Given the description of an element on the screen output the (x, y) to click on. 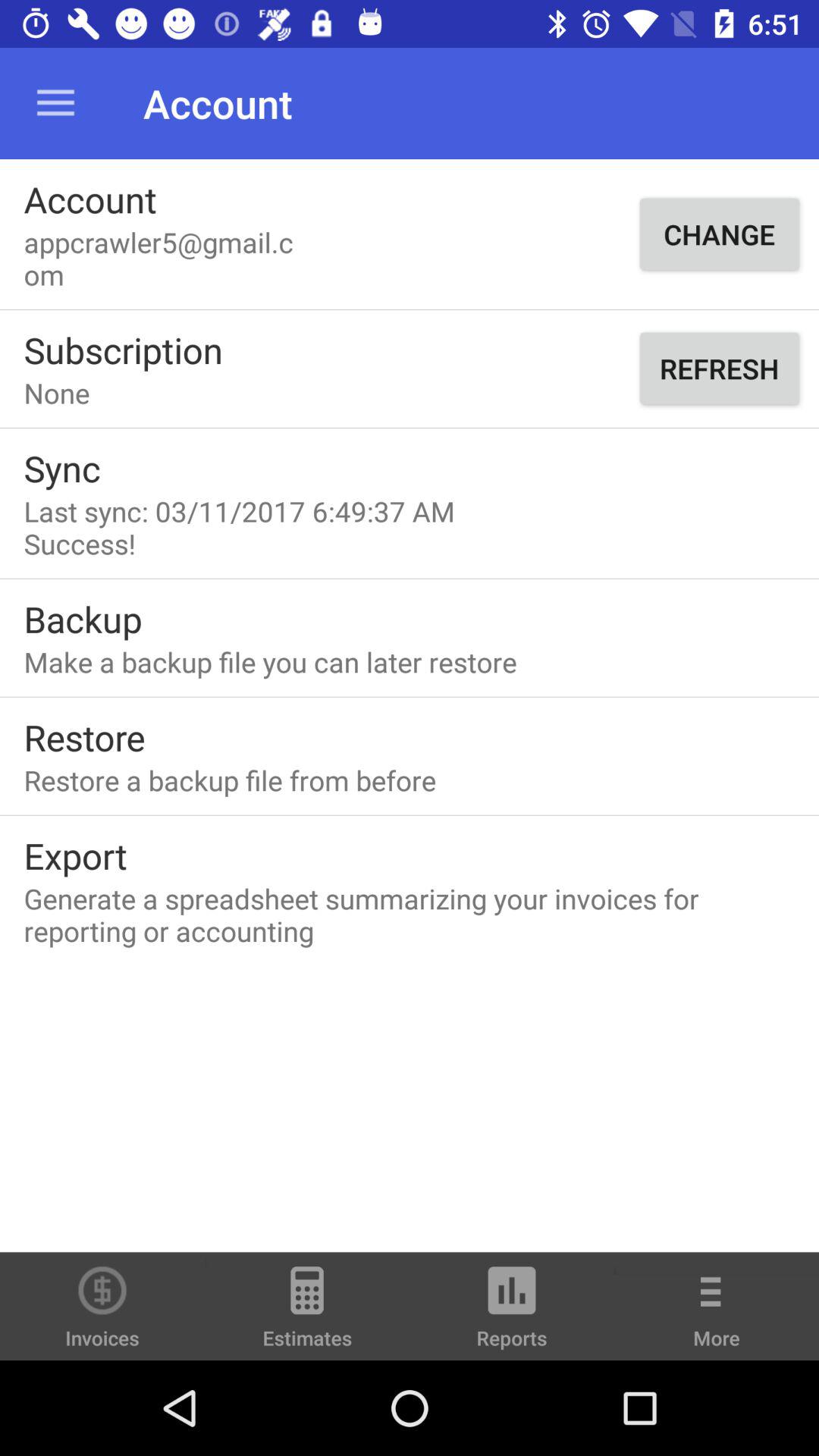
press the icon to the right of the subscription item (719, 368)
